Given the description of an element on the screen output the (x, y) to click on. 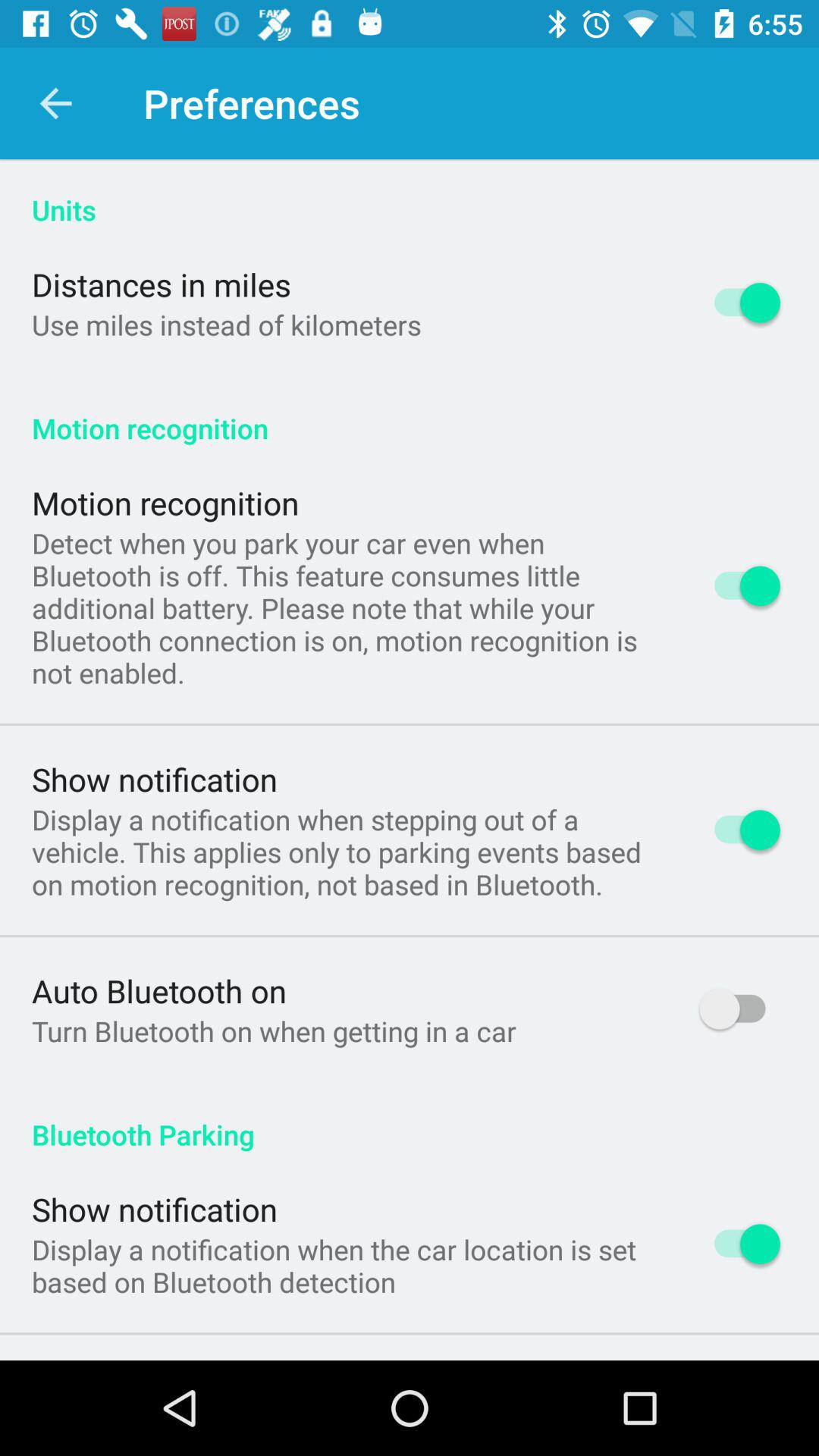
jump to detect when you app (345, 607)
